Given the description of an element on the screen output the (x, y) to click on. 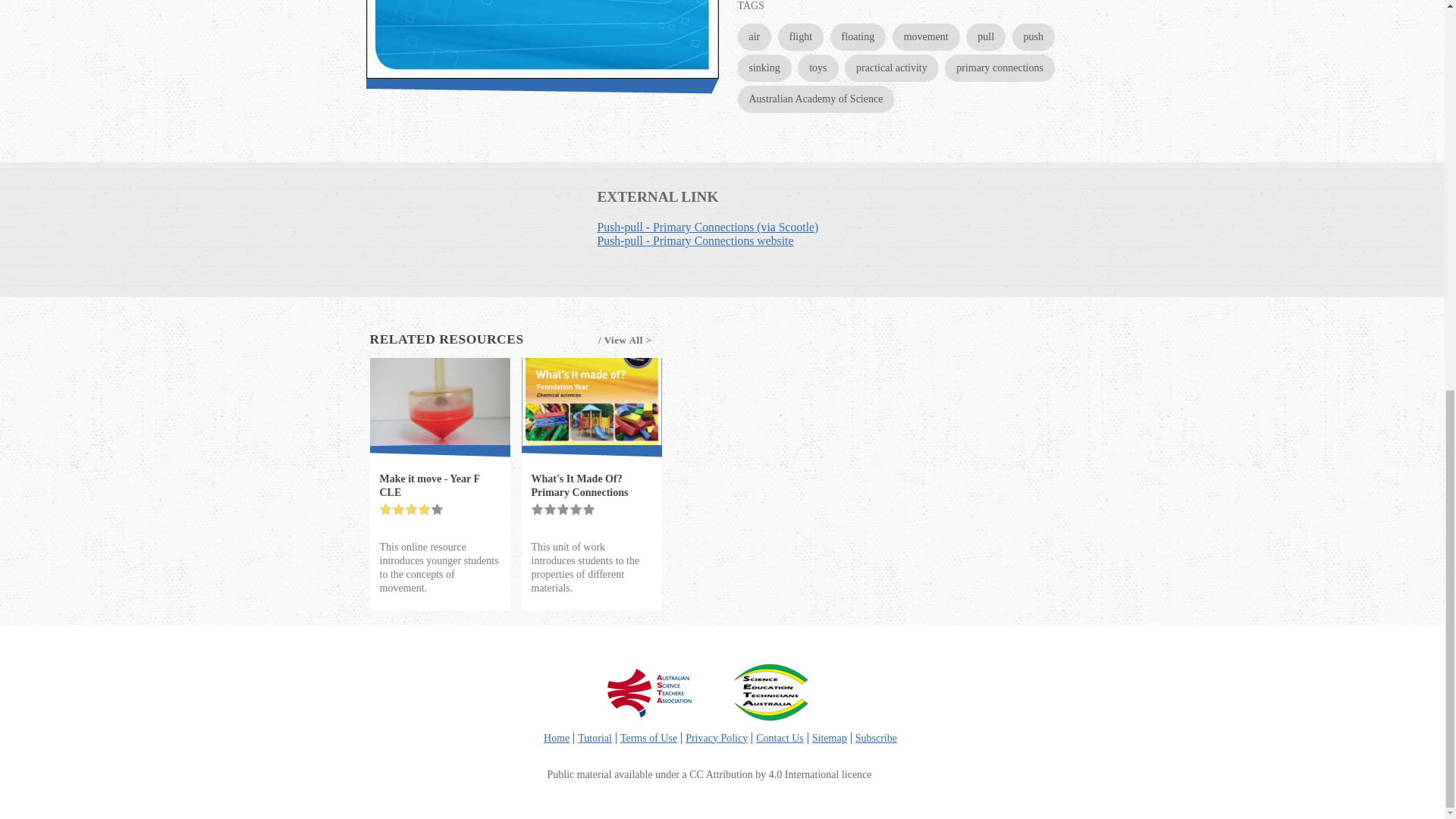
floating (857, 36)
Push-pull - Primary Connections website (694, 240)
What's It made of? Primary Connections (591, 401)
push (1032, 36)
Australian Academy of Science (814, 99)
sinking (763, 67)
flight (800, 36)
Australian Science Teachers Association (649, 691)
movement (925, 36)
Site map for this site (829, 737)
pull (986, 36)
Spinning top (440, 401)
Science Education Technicians Australia (770, 691)
Video tutorial for the Science ASSIST website. (594, 737)
primary connections (999, 67)
